Given the description of an element on the screen output the (x, y) to click on. 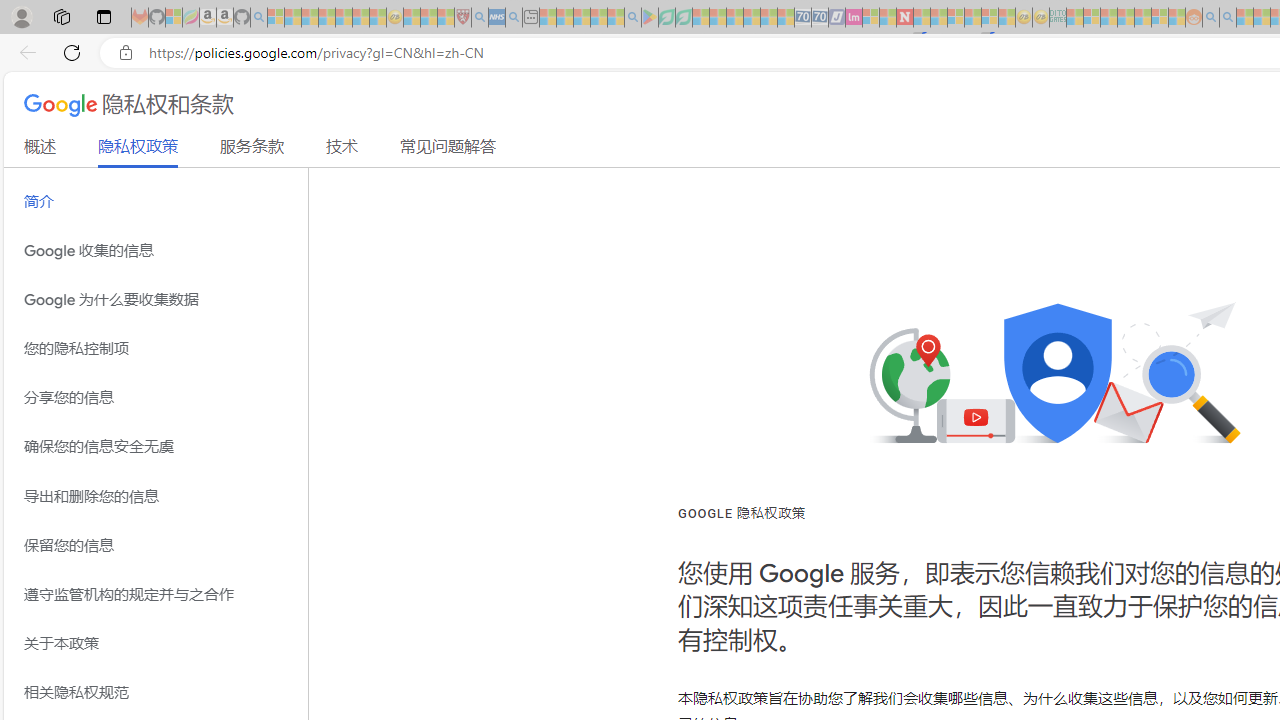
MSNBC - MSN - Sleeping (1074, 17)
Kinda Frugal - MSN - Sleeping (1142, 17)
DITOGAMES AG Imprint - Sleeping (1057, 17)
Pets - MSN - Sleeping (598, 17)
